Given the description of an element on the screen output the (x, y) to click on. 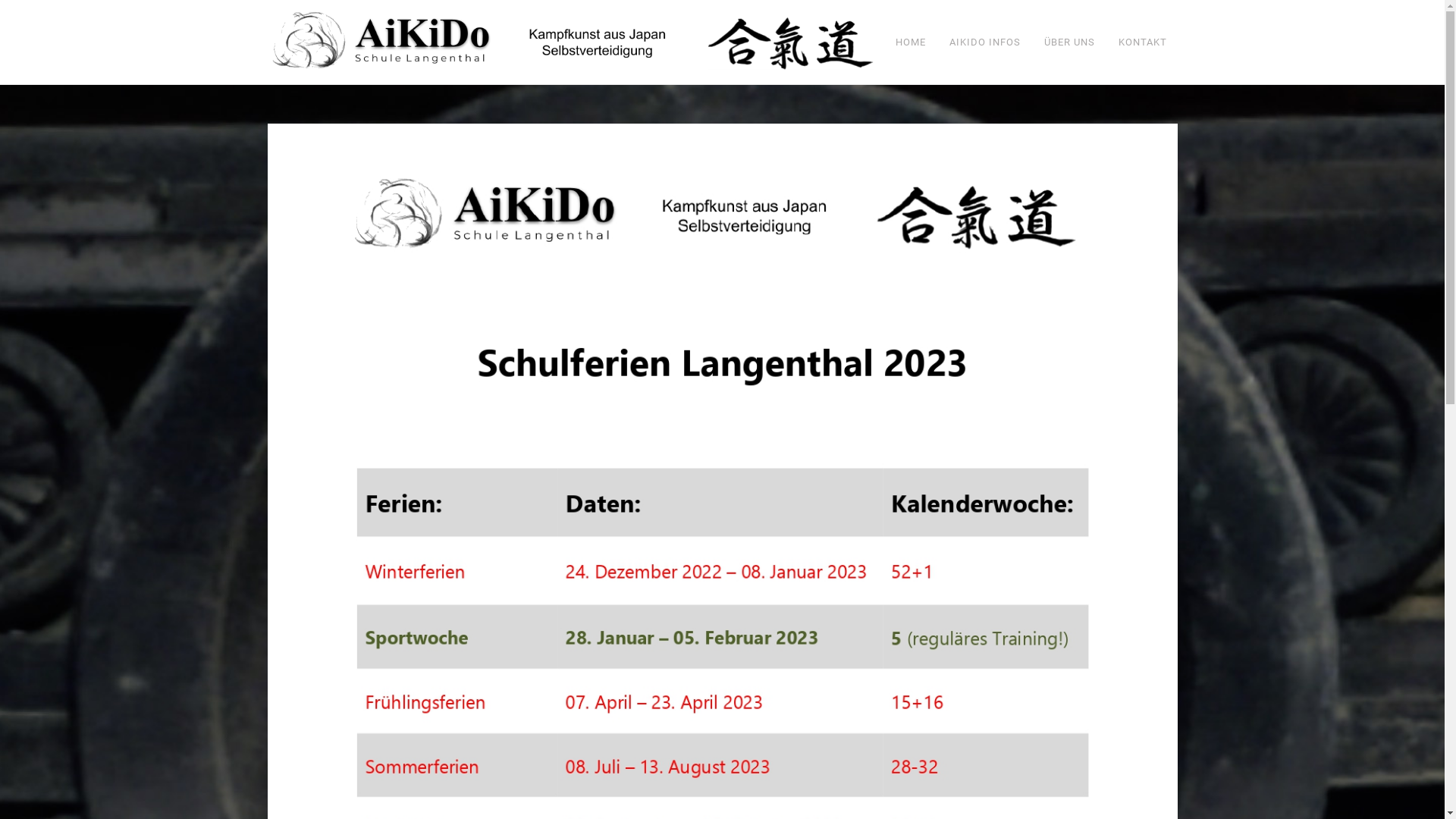
HOME Element type: text (914, 41)
KONTAKT Element type: text (1141, 41)
AIKIDO INFOS Element type: text (984, 41)
Aikido Langenthal Element type: hover (569, 41)
